Given the description of an element on the screen output the (x, y) to click on. 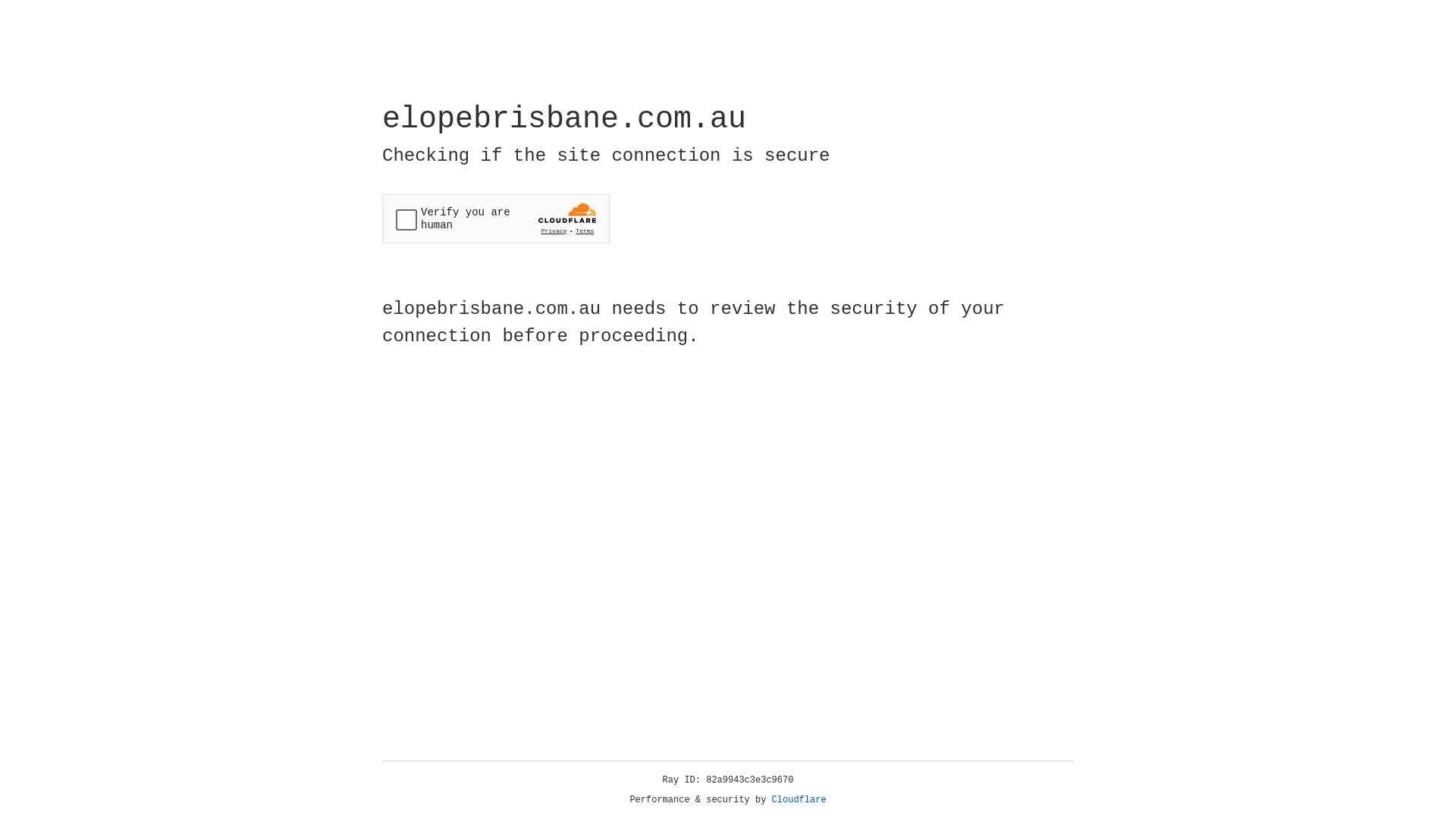
Widget containing a Cloudflare security challenge Element type: hover (495, 218)
Cloudflare Element type: text (798, 799)
